Given the description of an element on the screen output the (x, y) to click on. 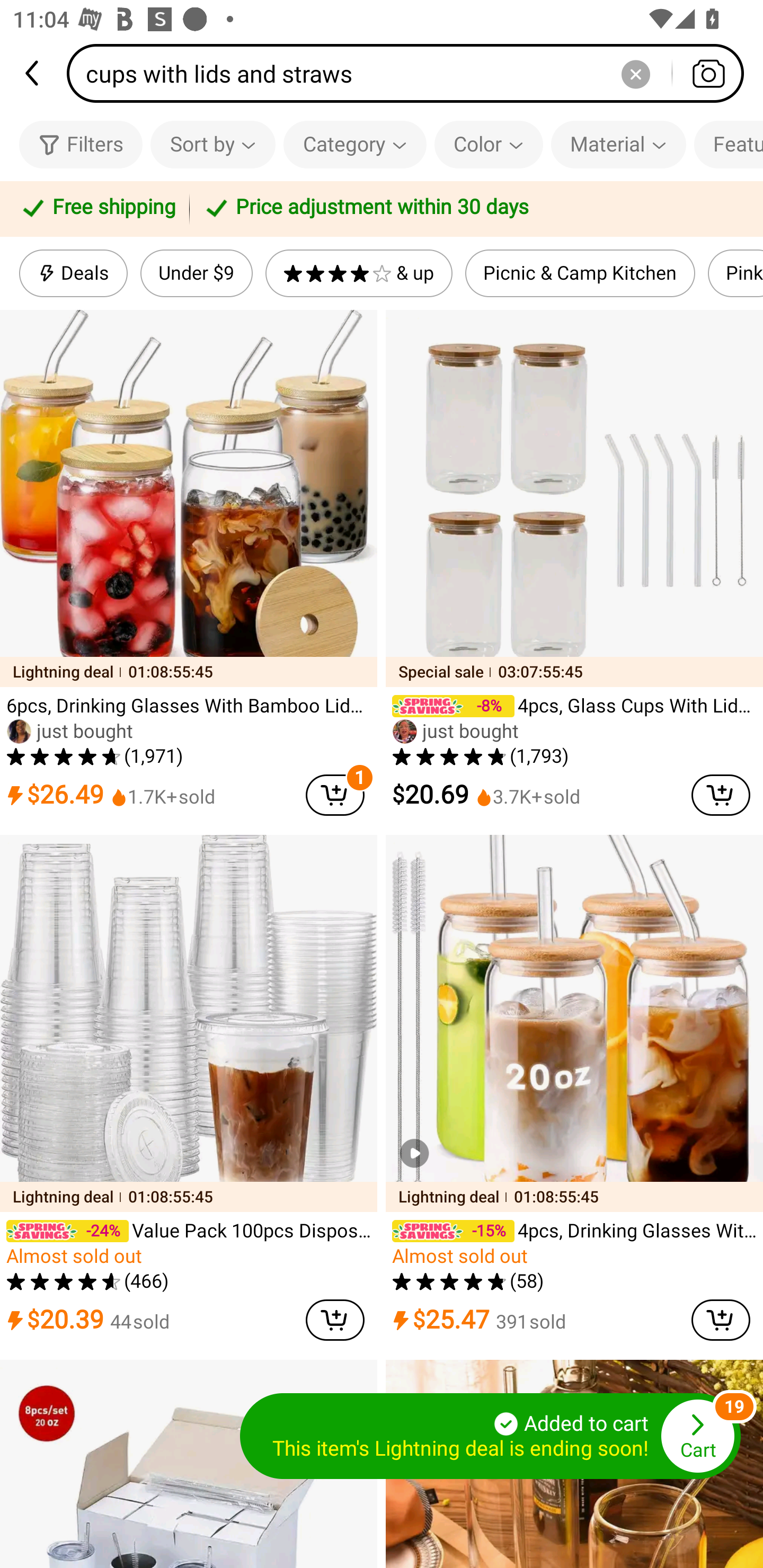
back (33, 72)
cups with lids and straws (411, 73)
Delete search history (635, 73)
Search by photo (708, 73)
Filters (80, 143)
Sort by (212, 143)
Category (354, 143)
Color (488, 143)
Material (617, 143)
Free shipping (97, 208)
Price adjustment within 30 days (472, 208)
Deals (73, 273)
Under $9 (196, 273)
& up (358, 273)
Picnic & Camp Kitchen (580, 273)
cart delete (334, 794)
cart delete (720, 794)
cart delete (334, 1319)
cart delete (720, 1319)
